Given the description of an element on the screen output the (x, y) to click on. 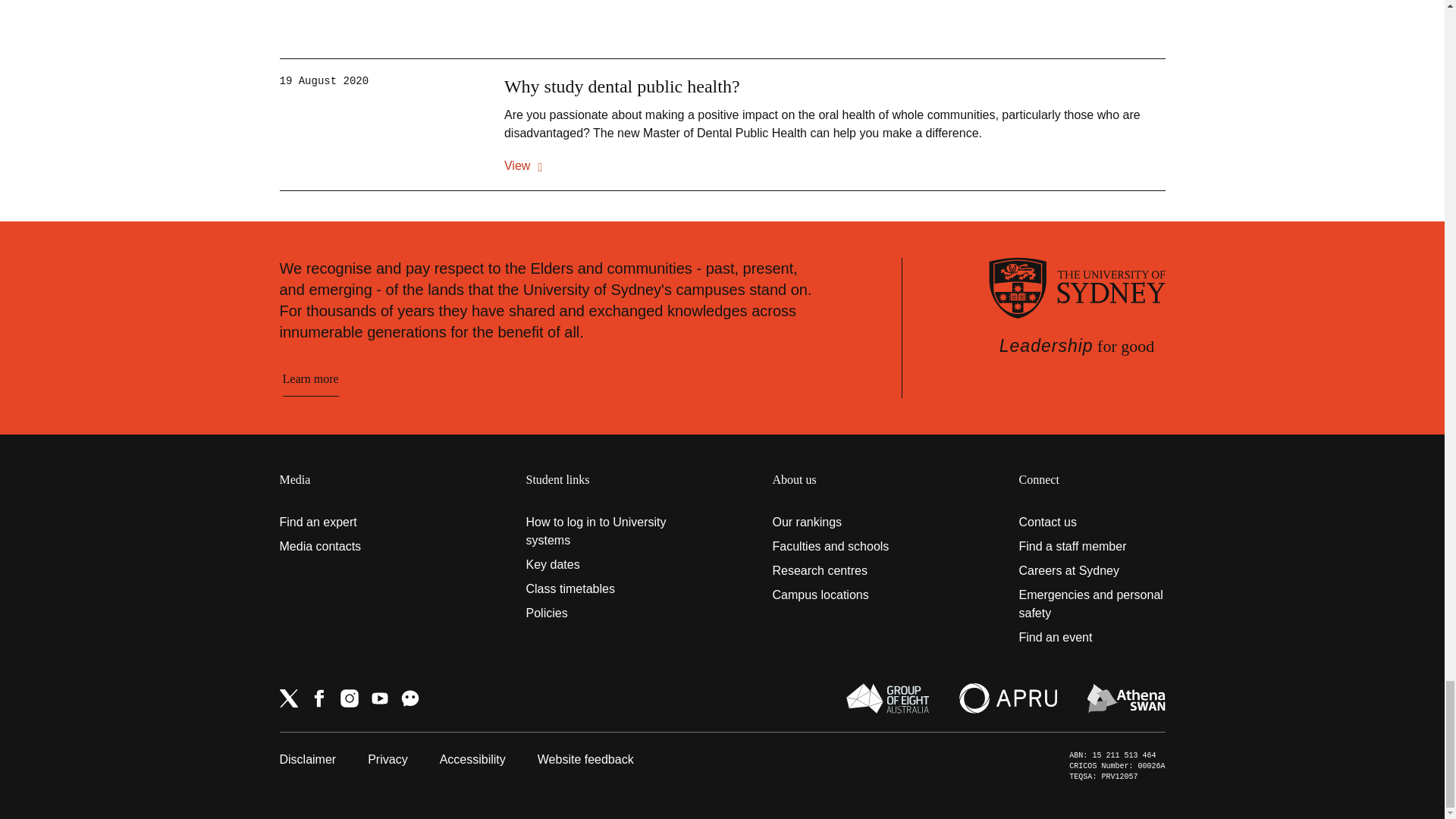
Key dates (598, 565)
How to log in to University systems (598, 531)
Learn more (309, 379)
instagram (348, 698)
Faculties and schools (844, 546)
facebook (317, 698)
twitter (288, 698)
Our rankings (844, 522)
Media contacts (352, 546)
